Given the description of an element on the screen output the (x, y) to click on. 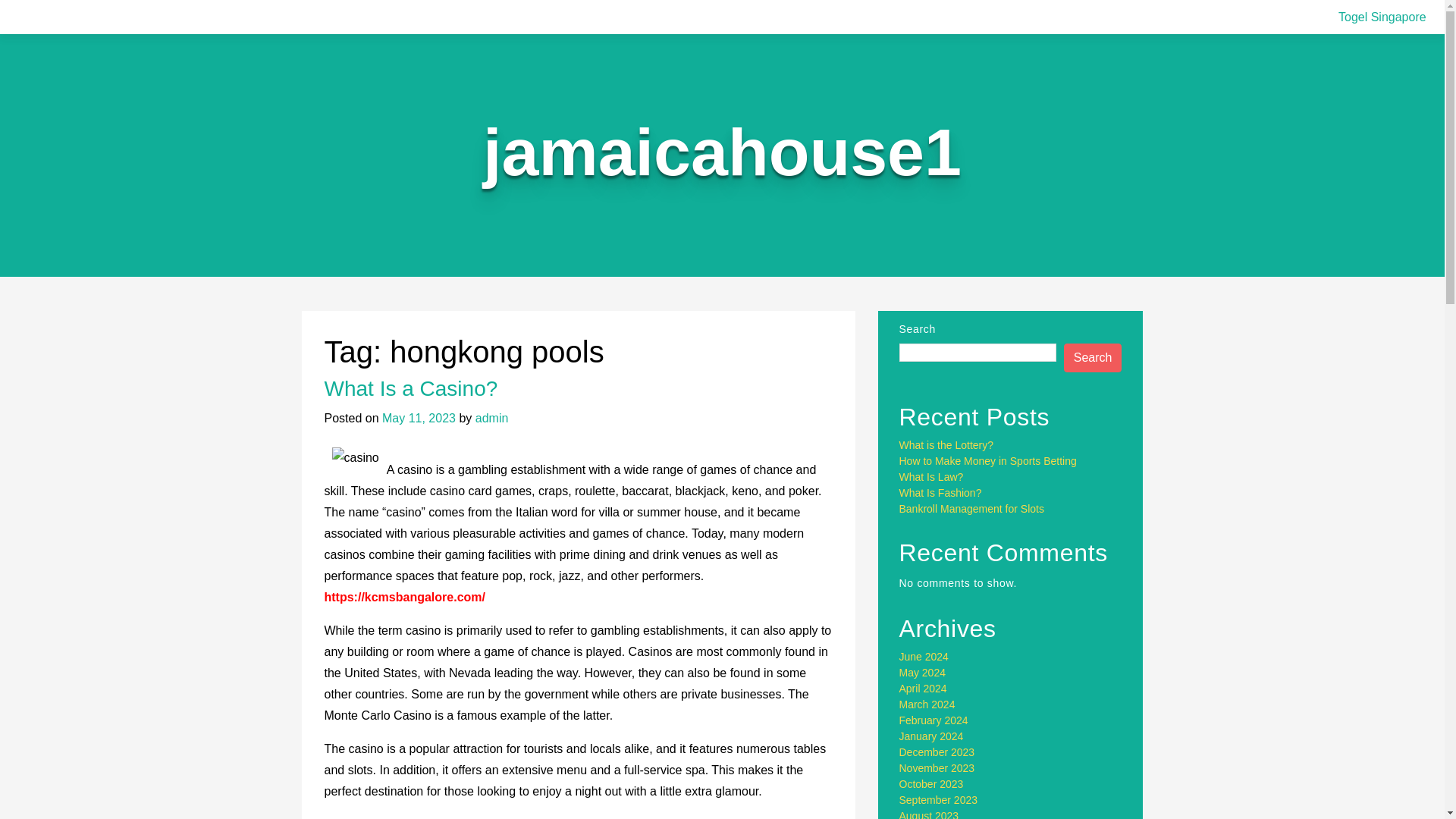
Search (1093, 357)
What Is a Casino? (410, 388)
Togel Singapore (1382, 16)
May 11, 2023 (418, 418)
Togel Singapore (1382, 16)
admin (492, 418)
